Given the description of an element on the screen output the (x, y) to click on. 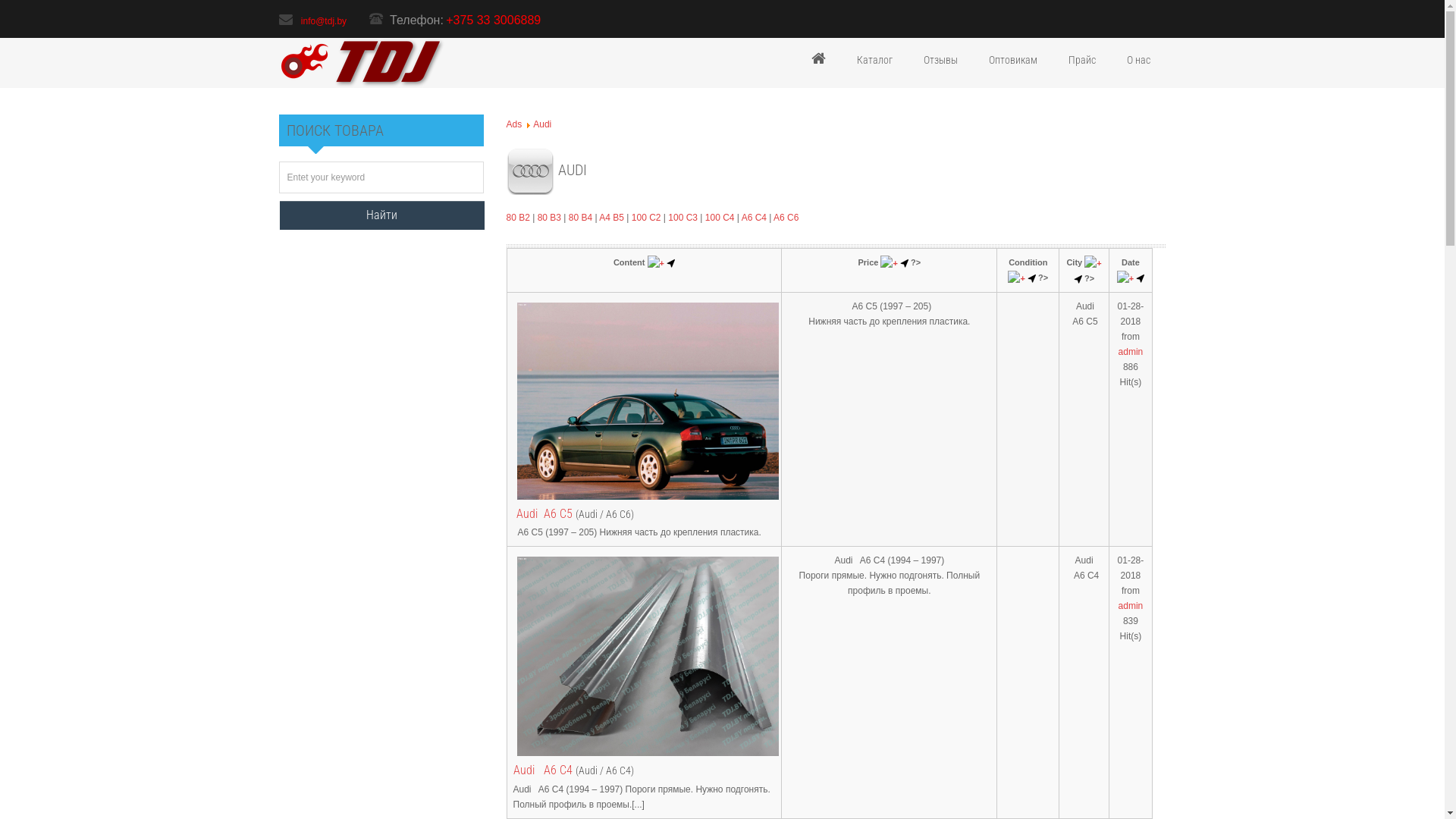
A4 B5 Element type: text (611, 217)
80 B2 Element type: text (518, 217)
Ads Element type: text (514, 124)
admin Element type: text (1130, 351)
80 B4 Element type: text (580, 217)
 Audi  A6 C5 Element type: text (541, 513)
100 C4 Element type: text (719, 217)
A6 C4 Element type: text (753, 217)
TDJ.BY Element type: hover (364, 62)
Audi   A6 C4 Element type: text (541, 769)
info@tdj.by Element type: text (323, 20)
80 B3 Element type: text (549, 217)
100 C3 Element type: text (682, 217)
admin Element type: text (1130, 605)
Audi Element type: text (542, 124)
A6 C6 Element type: text (785, 217)
